Given the description of an element on the screen output the (x, y) to click on. 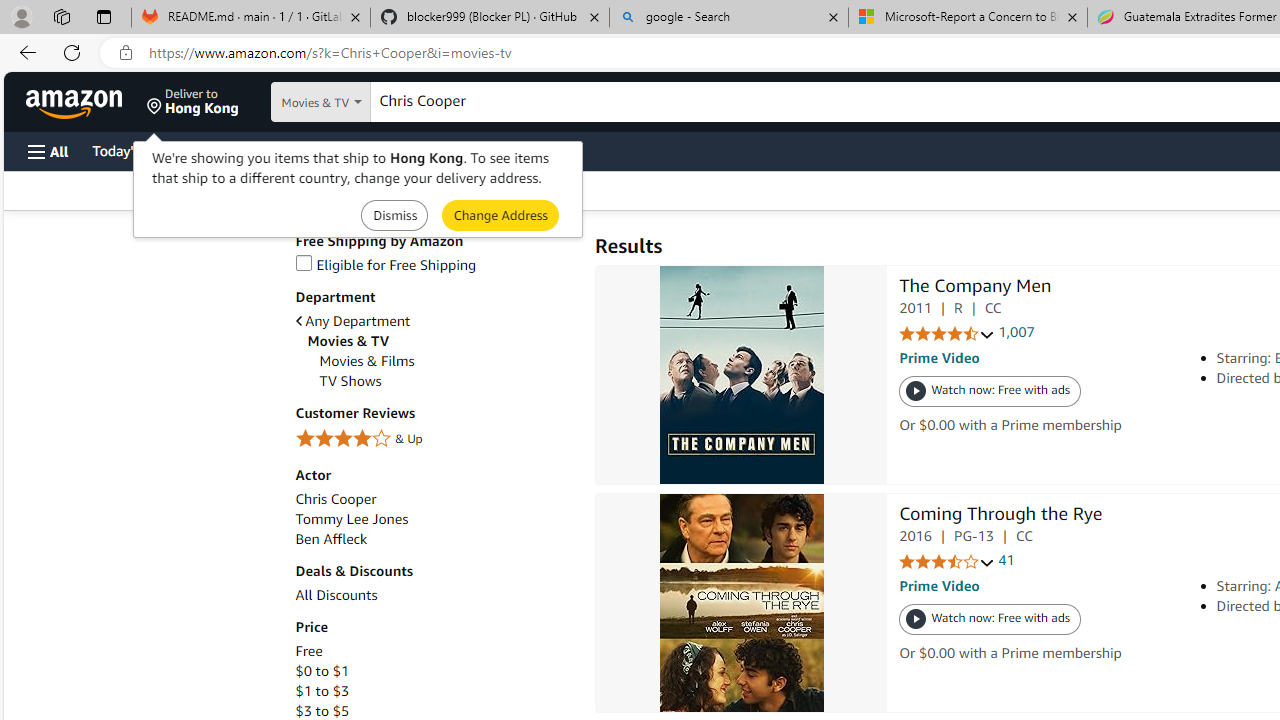
Movies & Films (446, 361)
Amazon (76, 101)
Prime Video (939, 586)
4 Stars & Up (434, 439)
Registry (360, 150)
Search in (371, 102)
Watch now: Free with ads (989, 619)
TV Shows (349, 381)
$3 to $5 (434, 711)
TV Shows (446, 381)
Customer Service (256, 150)
